Given the description of an element on the screen output the (x, y) to click on. 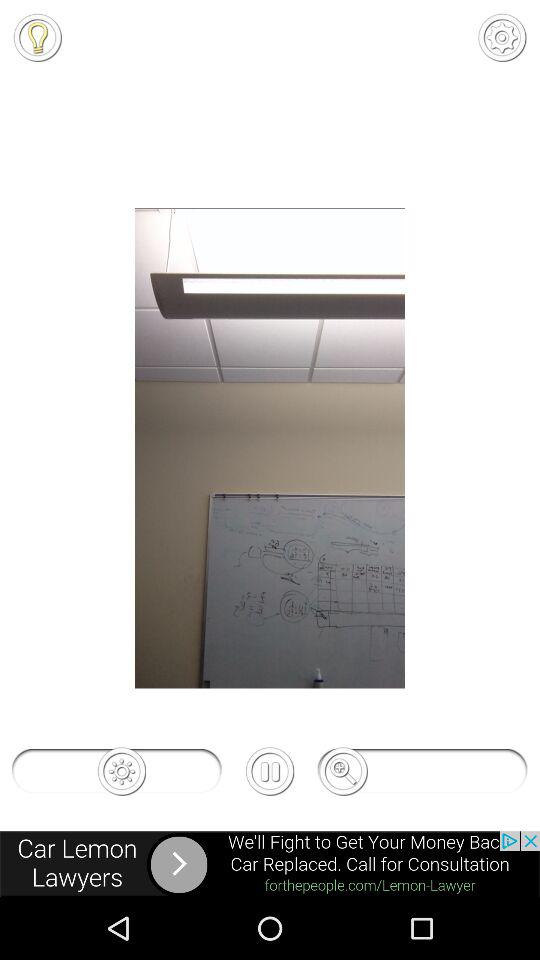
go to pass botten (269, 771)
